Given the description of an element on the screen output the (x, y) to click on. 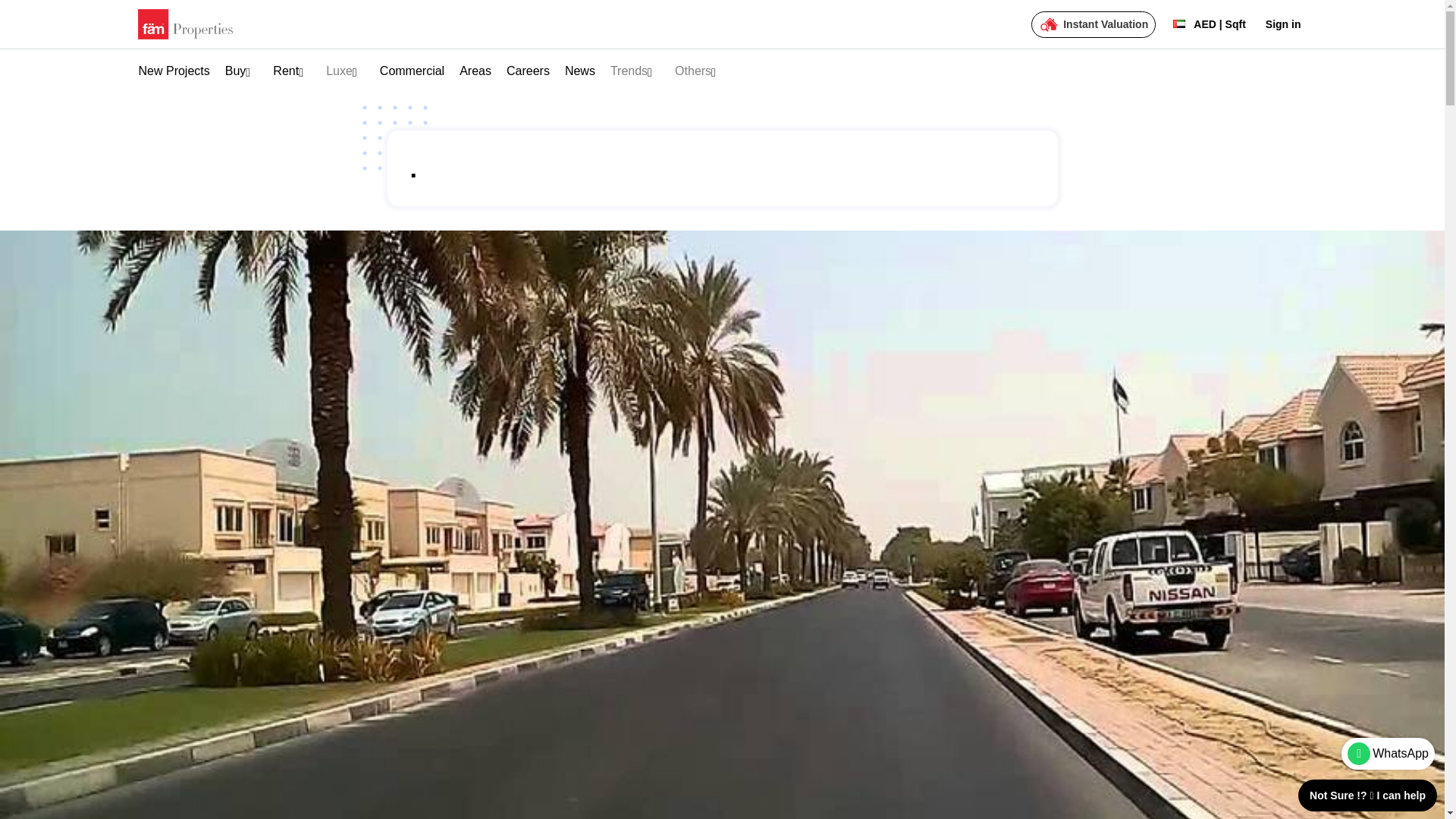
Valuation (1093, 24)
Commercial (412, 71)
Trends (628, 71)
Al Wasl (265, 73)
Careers (528, 71)
Instant Valuation (1093, 24)
Others (693, 71)
Sign in (1283, 23)
Dubai Properties (191, 73)
New Projects (173, 71)
